Given the description of an element on the screen output the (x, y) to click on. 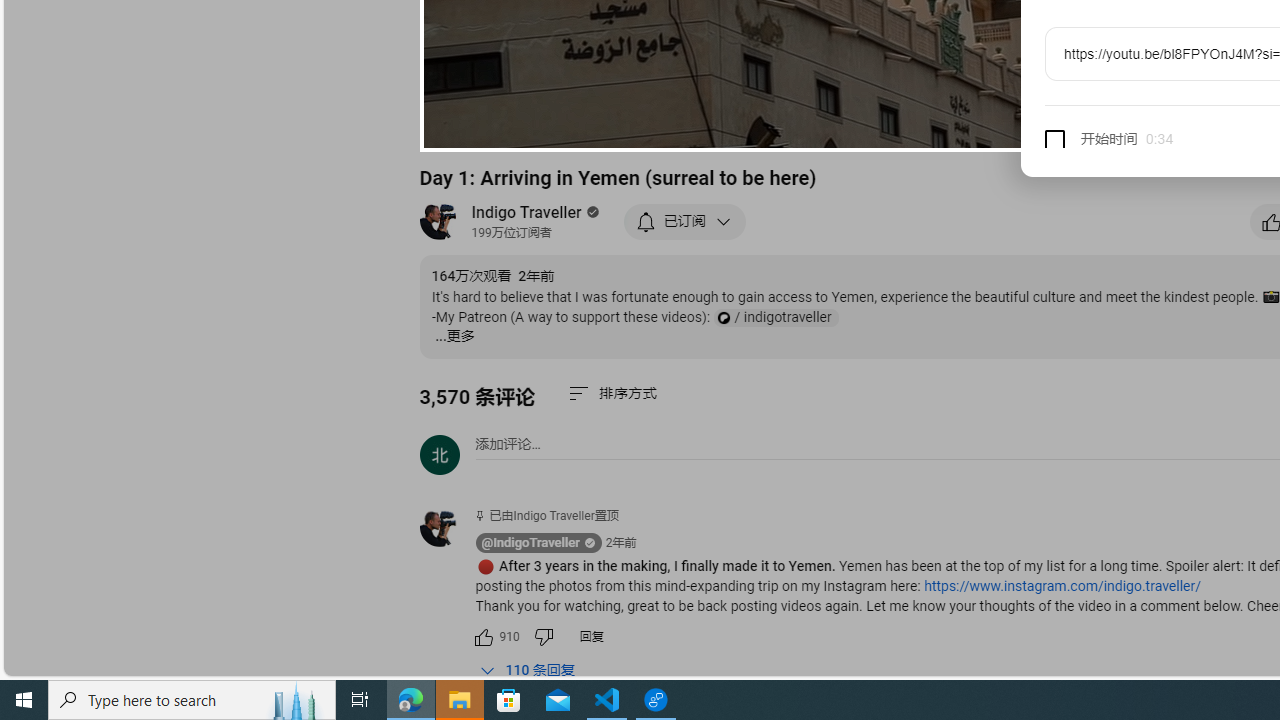
AutomationID: simplebox-placeholder (507, 444)
https://www.instagram.com/indigo.traveller/ (1062, 586)
Patreon Channel Link: indigotraveller (775, 318)
@IndigoTraveller (447, 528)
@IndigoTraveller (530, 543)
Intro (683, 127)
